Given the description of an element on the screen output the (x, y) to click on. 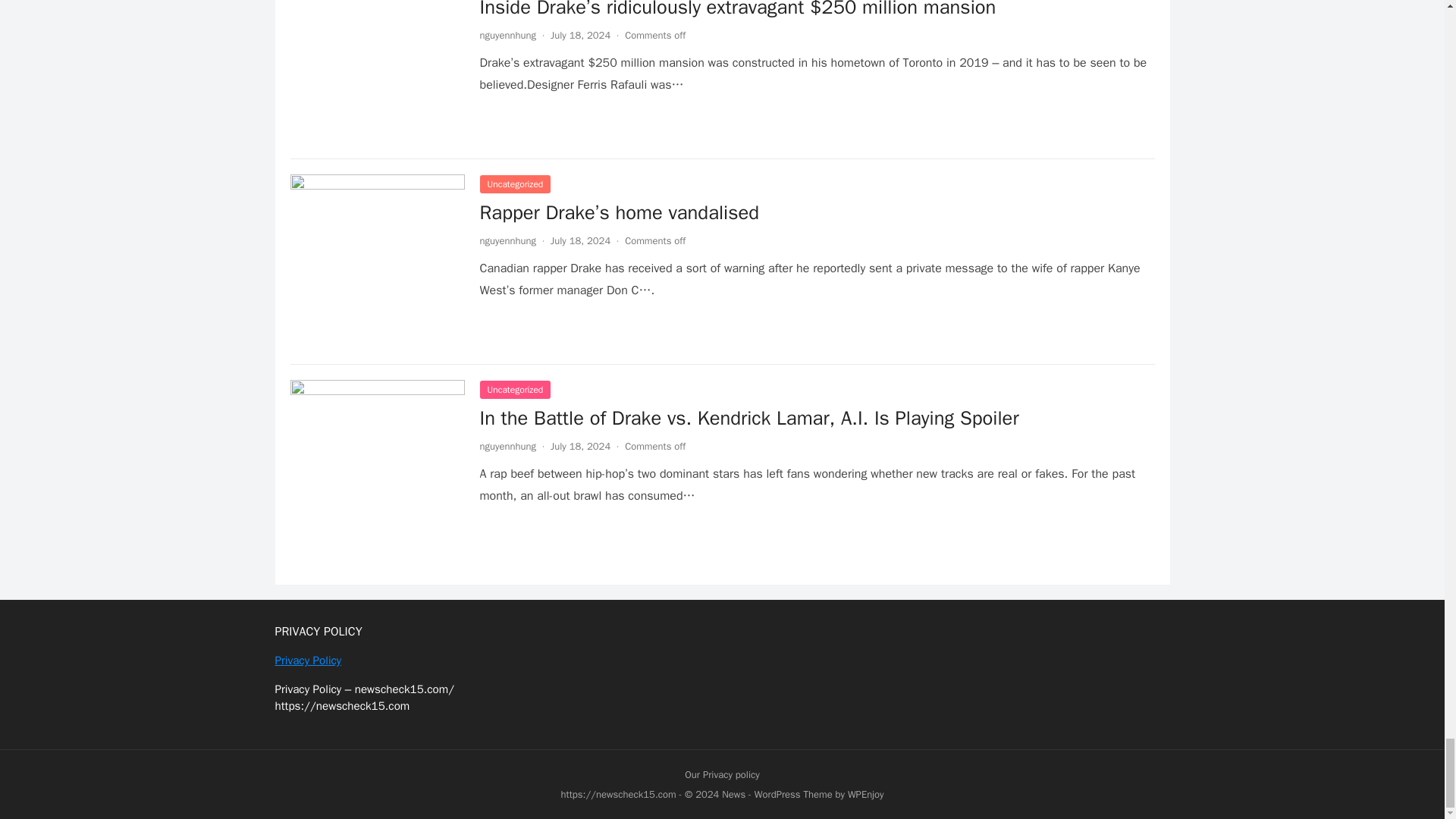
Posts by nguyennhung (507, 240)
Posts by nguyennhung (507, 445)
Posts by nguyennhung (507, 34)
